Given the description of an element on the screen output the (x, y) to click on. 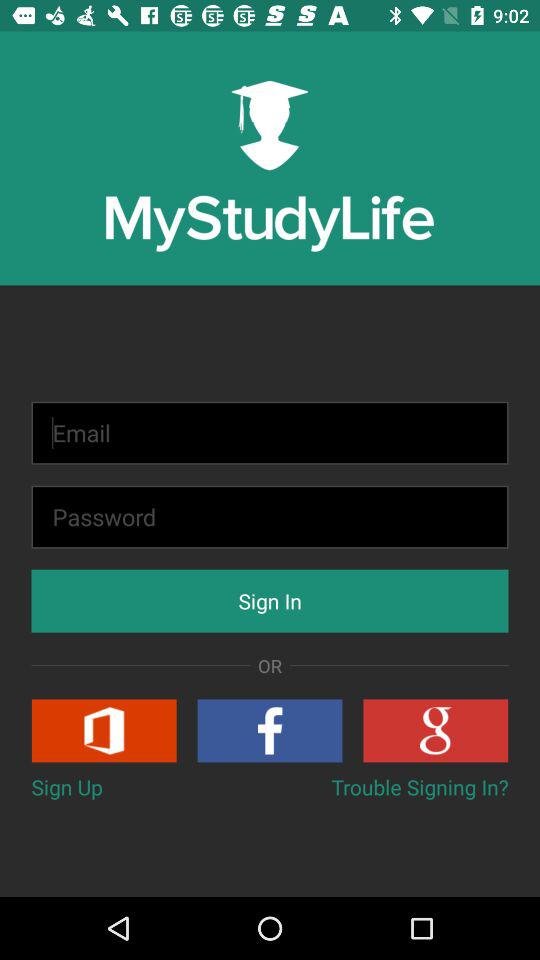
turn off item above or (269, 600)
